Given the description of an element on the screen output the (x, y) to click on. 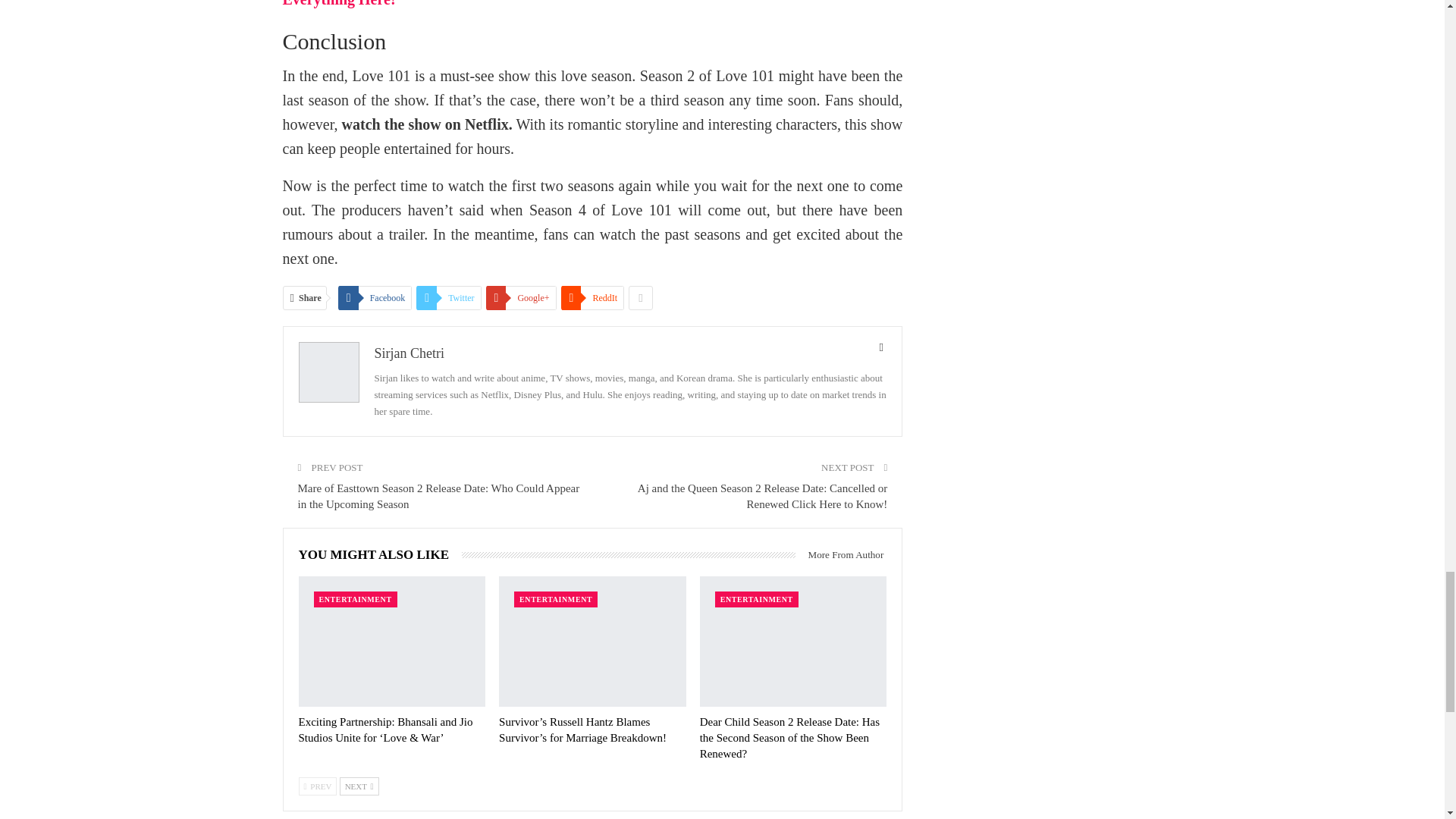
ReddIt (592, 297)
Twitter (448, 297)
Facebook (374, 297)
